Given the description of an element on the screen output the (x, y) to click on. 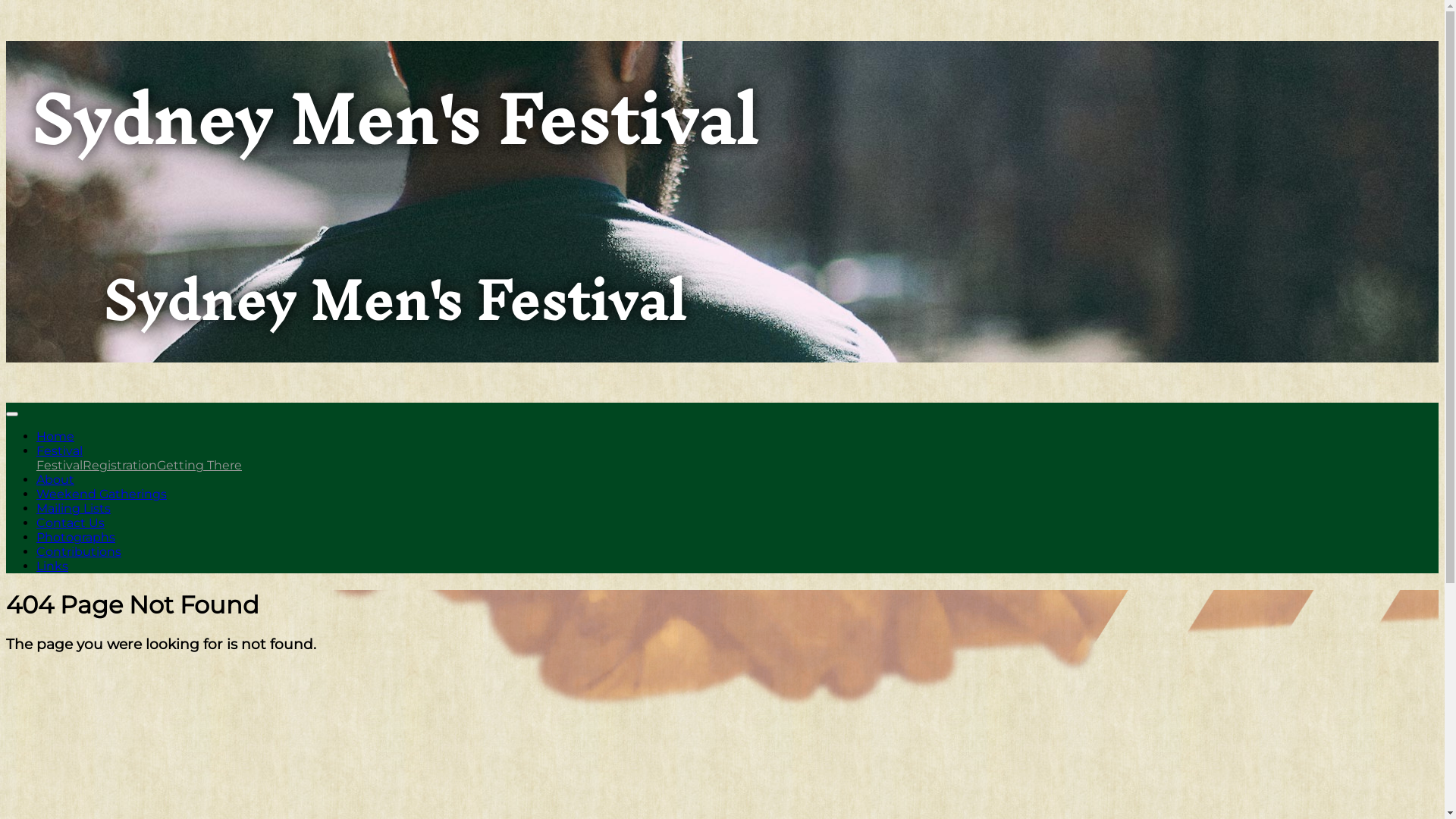
Mailing Lists Element type: text (73, 508)
Festival Element type: text (59, 465)
Home Element type: text (55, 436)
Weekend Gatherings Element type: text (101, 493)
Links Element type: text (52, 565)
Registration Element type: text (119, 465)
Getting There Element type: text (198, 465)
Festival Element type: text (59, 450)
Photographs Element type: text (75, 537)
Contributions Element type: text (78, 551)
Contact Us Element type: text (70, 522)
About Element type: text (55, 479)
